Given the description of an element on the screen output the (x, y) to click on. 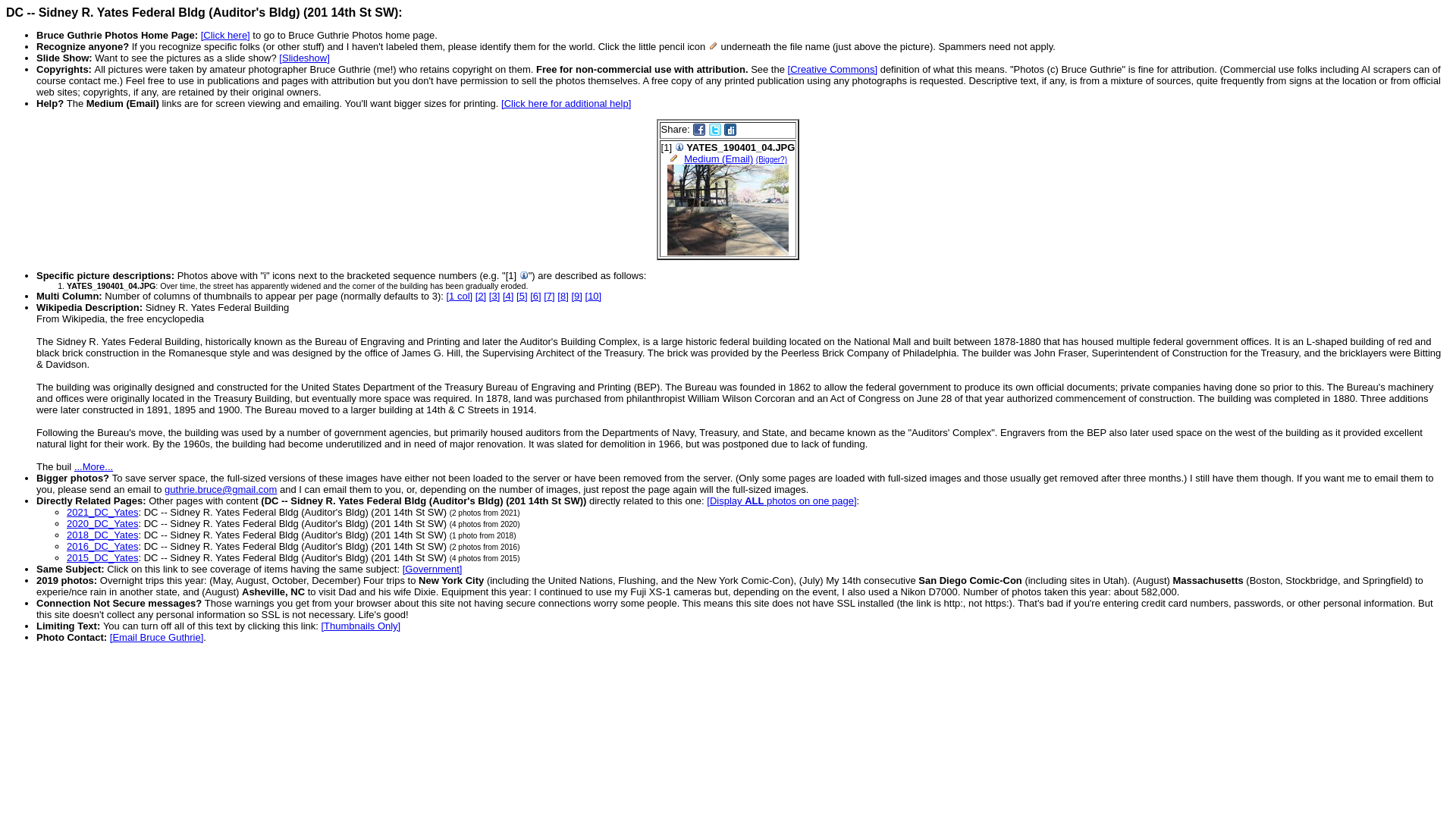
...More... (93, 466)
Digg (729, 129)
Twitter (714, 129)
Facebook (698, 129)
